Given the description of an element on the screen output the (x, y) to click on. 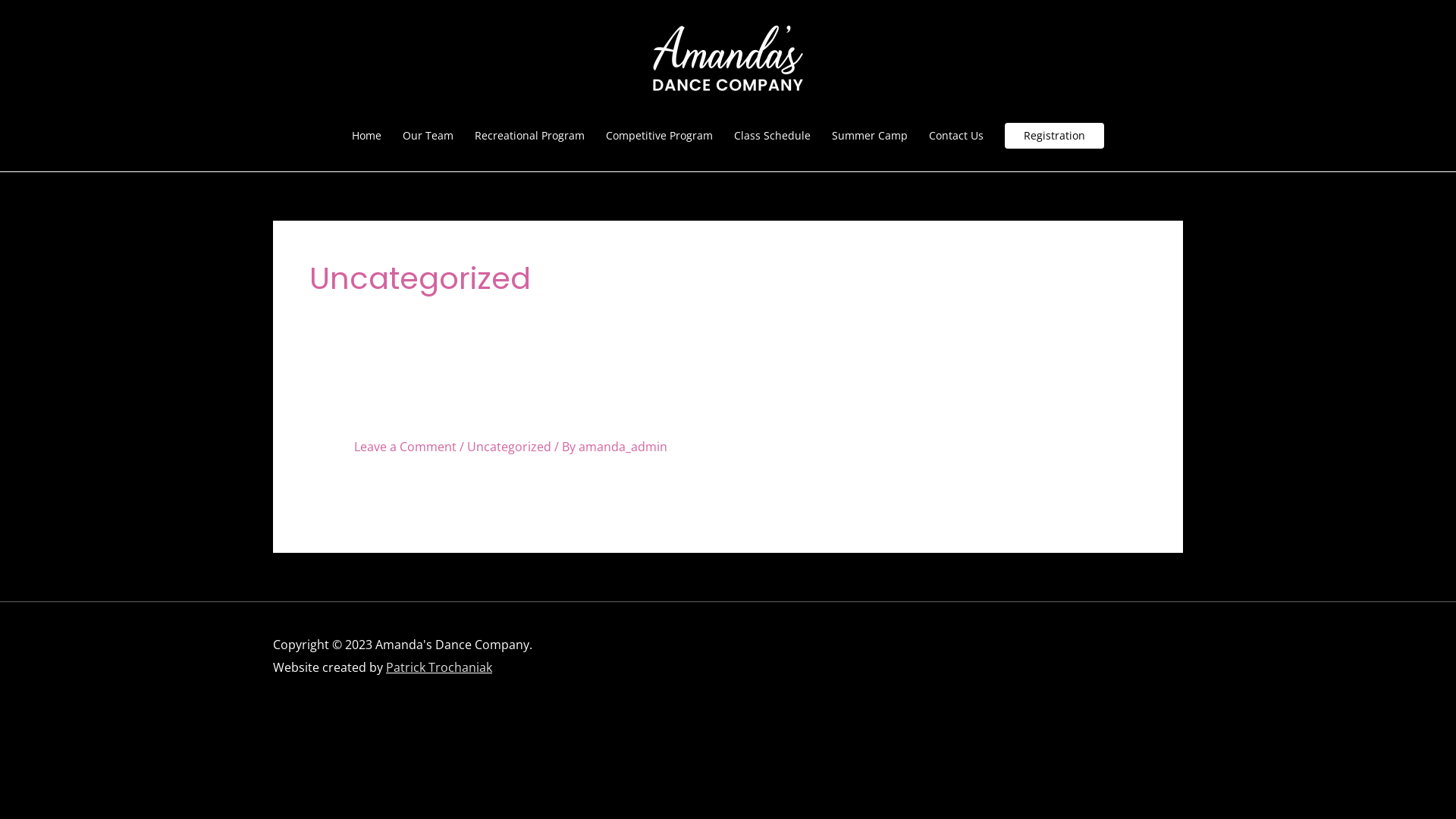
Uncategorized Element type: text (509, 446)
Leave a Comment Element type: text (405, 446)
Registration Element type: text (1054, 135)
amanda_admin Element type: text (622, 446)
Recreational Program Element type: text (529, 135)
Hello world! Element type: text (418, 418)
Patrick Trochaniak Element type: text (438, 666)
Contact Us Element type: text (956, 135)
Competitive Program Element type: text (659, 135)
Class Schedule Element type: text (772, 135)
Our Team Element type: text (428, 135)
Summer Camp Element type: text (869, 135)
Home Element type: text (366, 135)
